Given the description of an element on the screen output the (x, y) to click on. 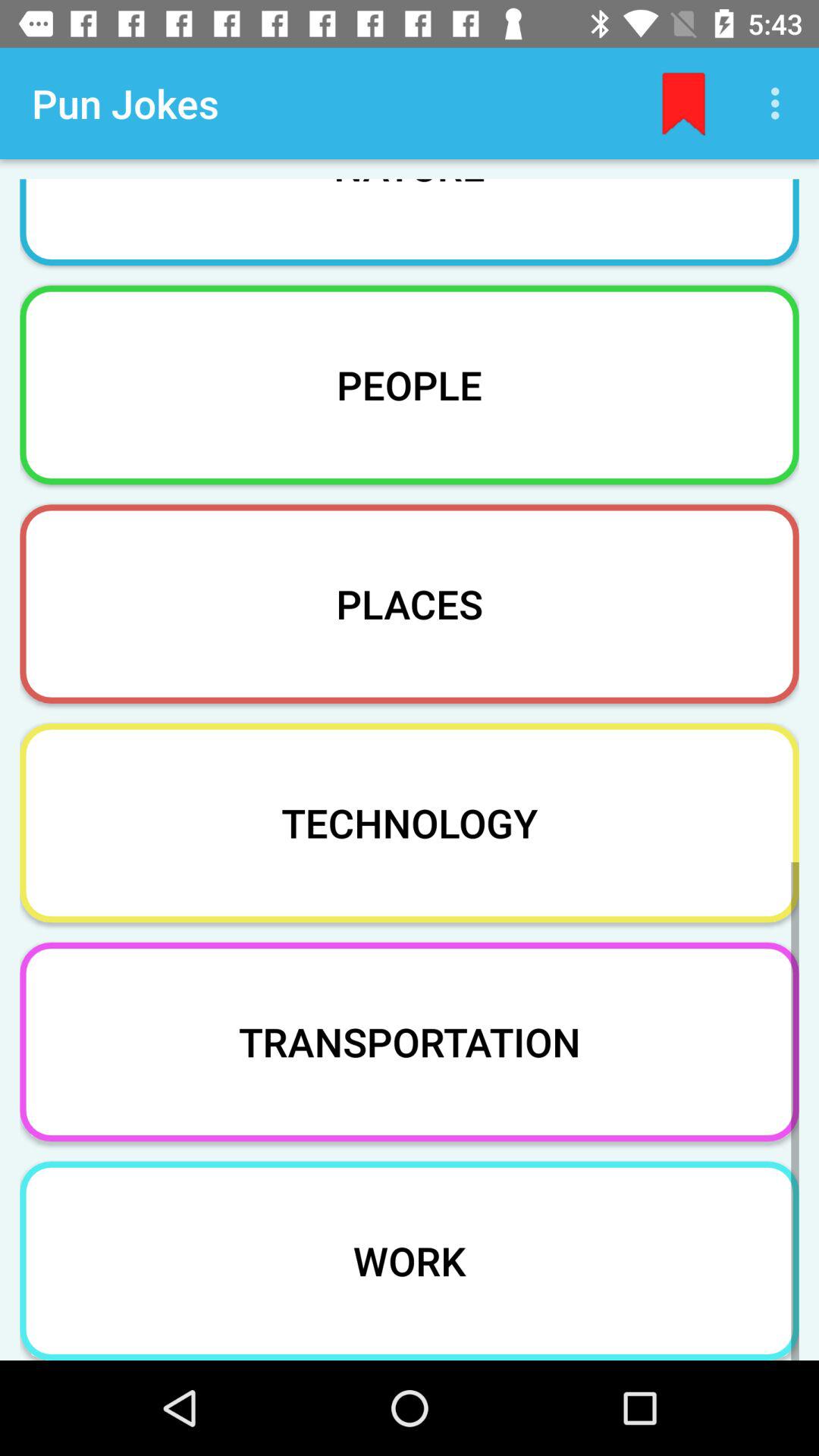
turn on item below the technology icon (409, 1041)
